Given the description of an element on the screen output the (x, y) to click on. 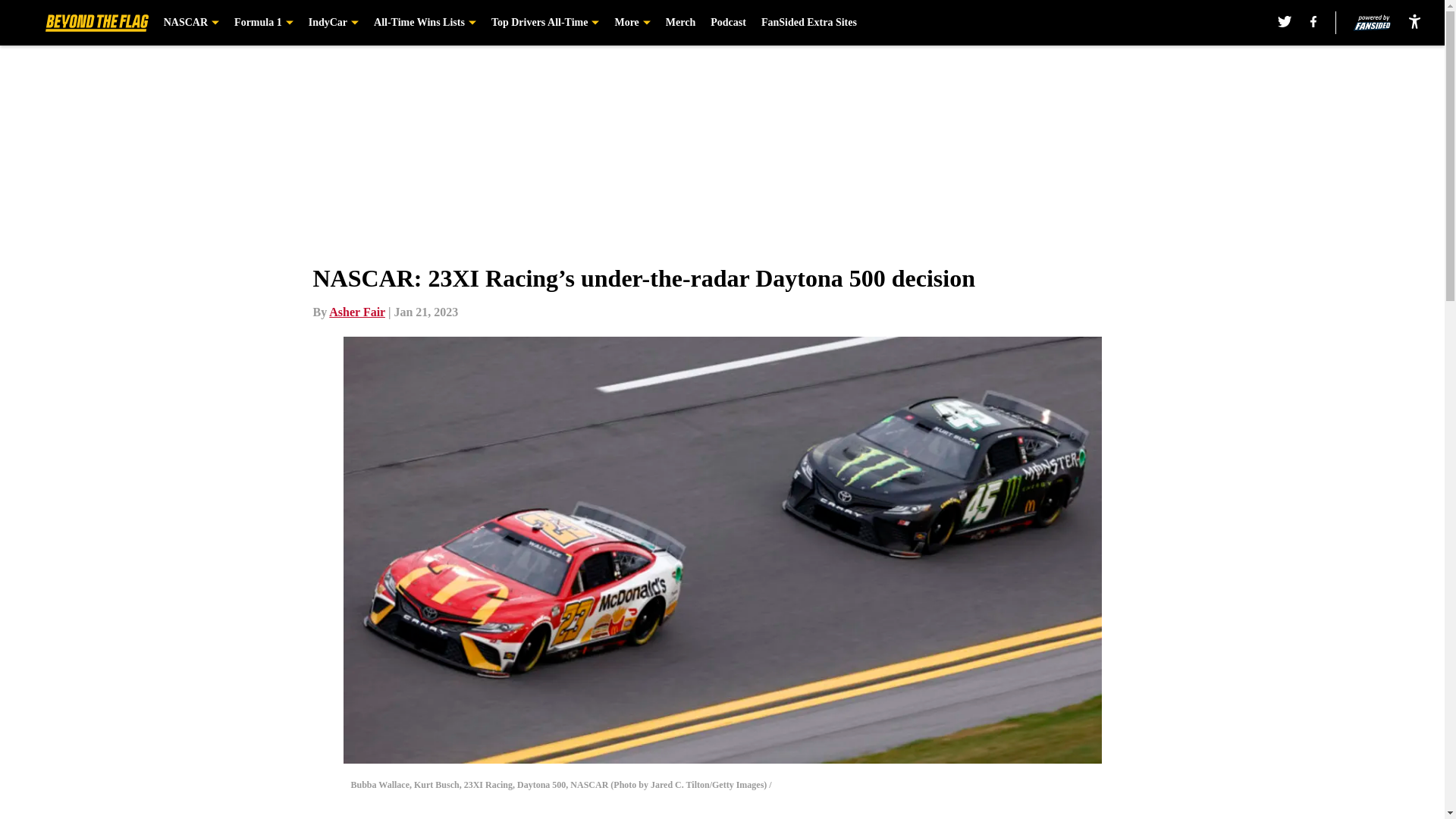
Merch (680, 22)
FanSided Extra Sites (809, 22)
Asher Fair (357, 311)
Podcast (727, 22)
